Given the description of an element on the screen output the (x, y) to click on. 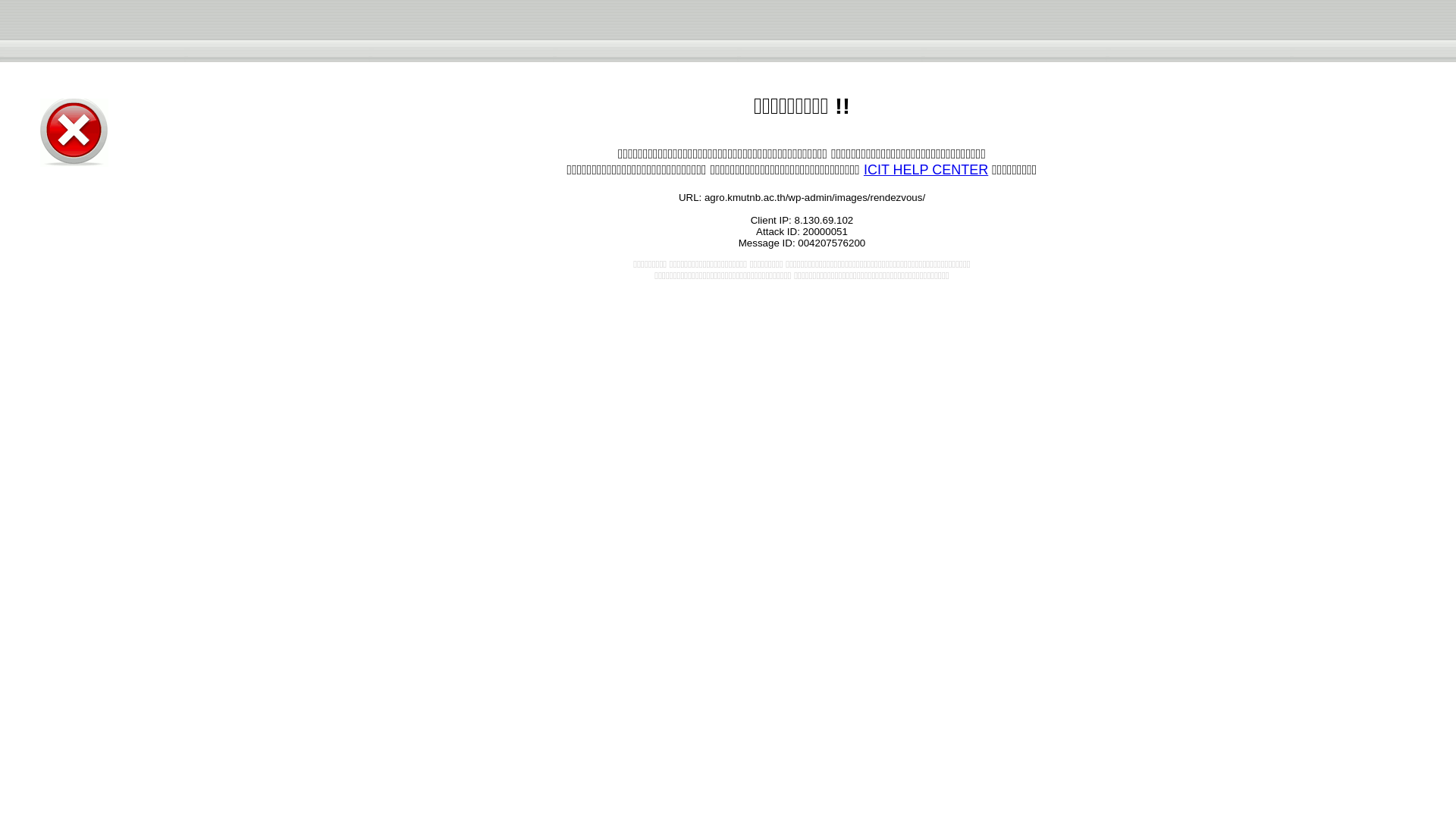
ICIT HELP CENTER (925, 169)
